Given the description of an element on the screen output the (x, y) to click on. 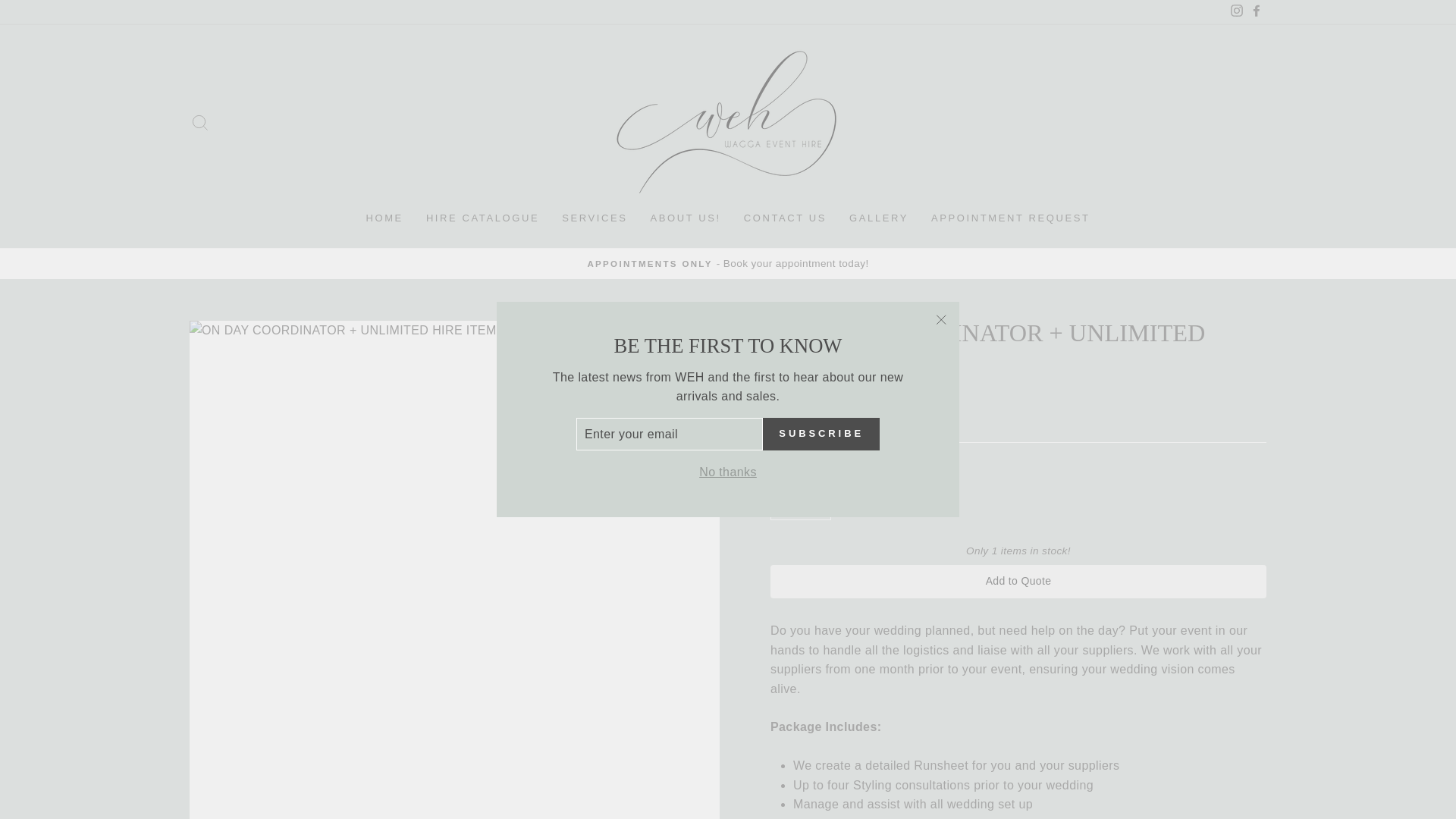
1 (800, 506)
SEARCH (199, 122)
